Given the description of an element on the screen output the (x, y) to click on. 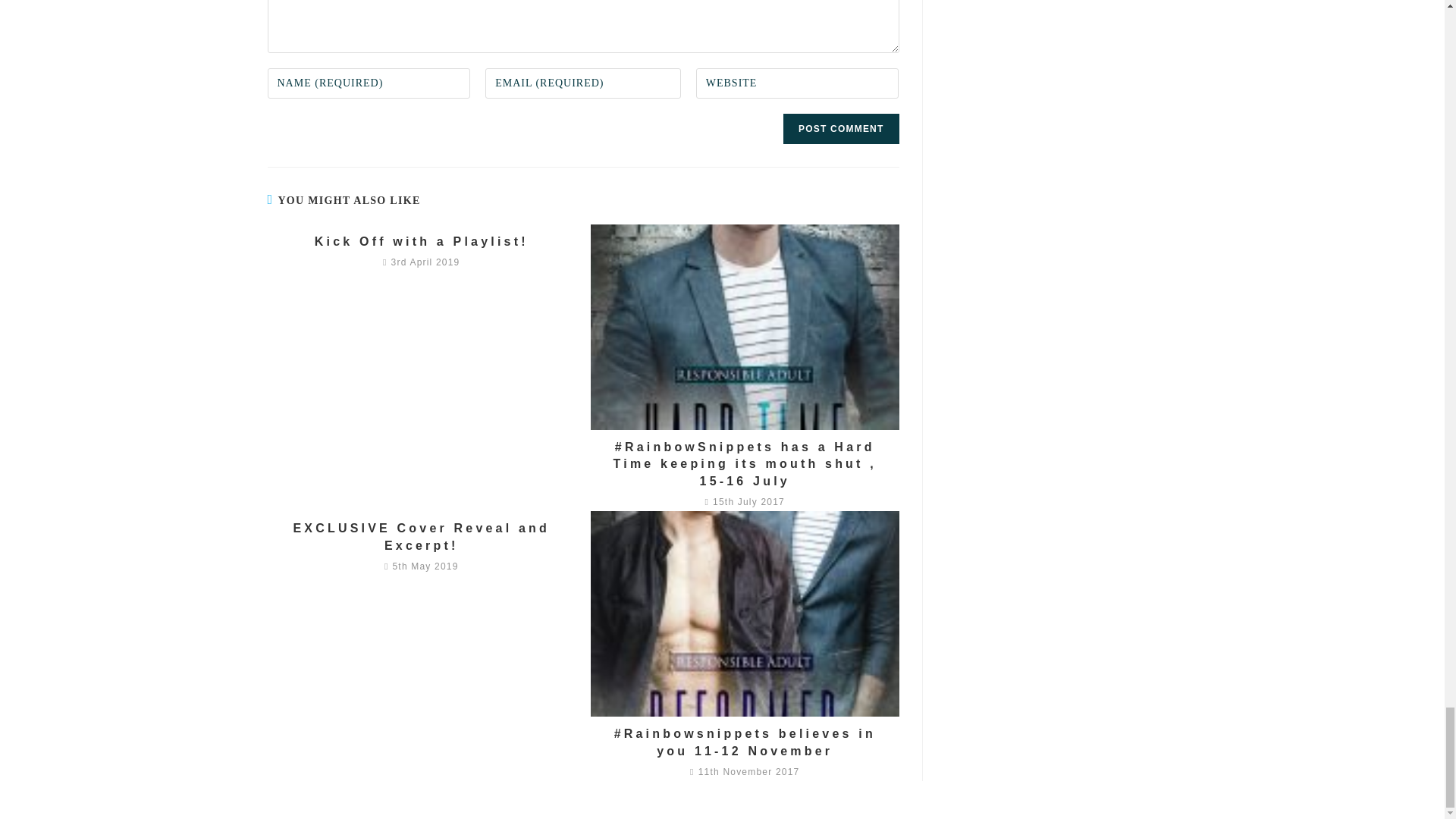
Kick Off with a Playlist! (421, 241)
Post Comment (840, 128)
EXCLUSIVE Cover Reveal and Excerpt! (421, 537)
